Given the description of an element on the screen output the (x, y) to click on. 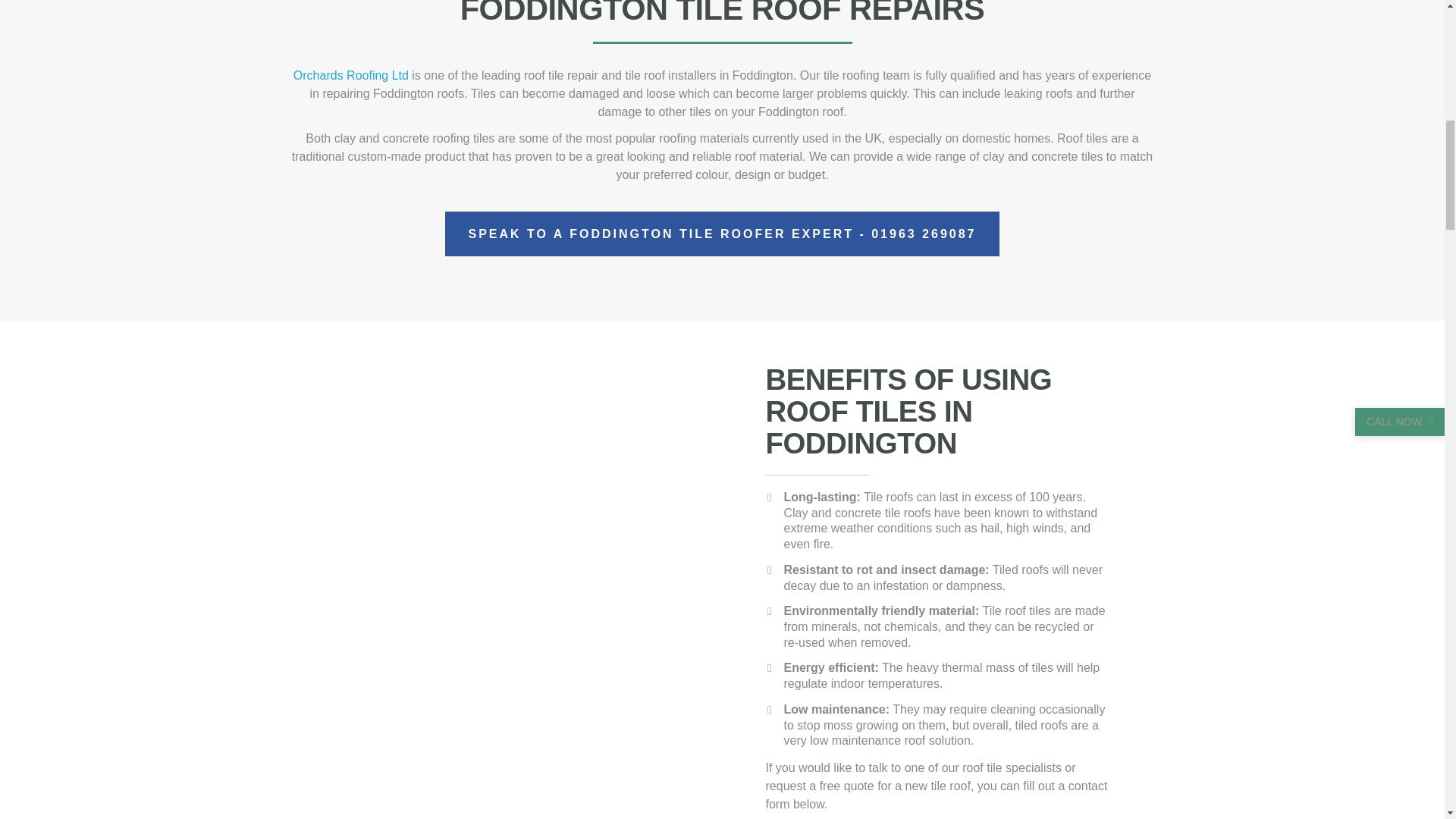
SPEAK TO A FODDINGTON TILE ROOFER EXPERT - 01963 269087 (670, 233)
Orchards Roofing Ltd (290, 74)
